Given the description of an element on the screen output the (x, y) to click on. 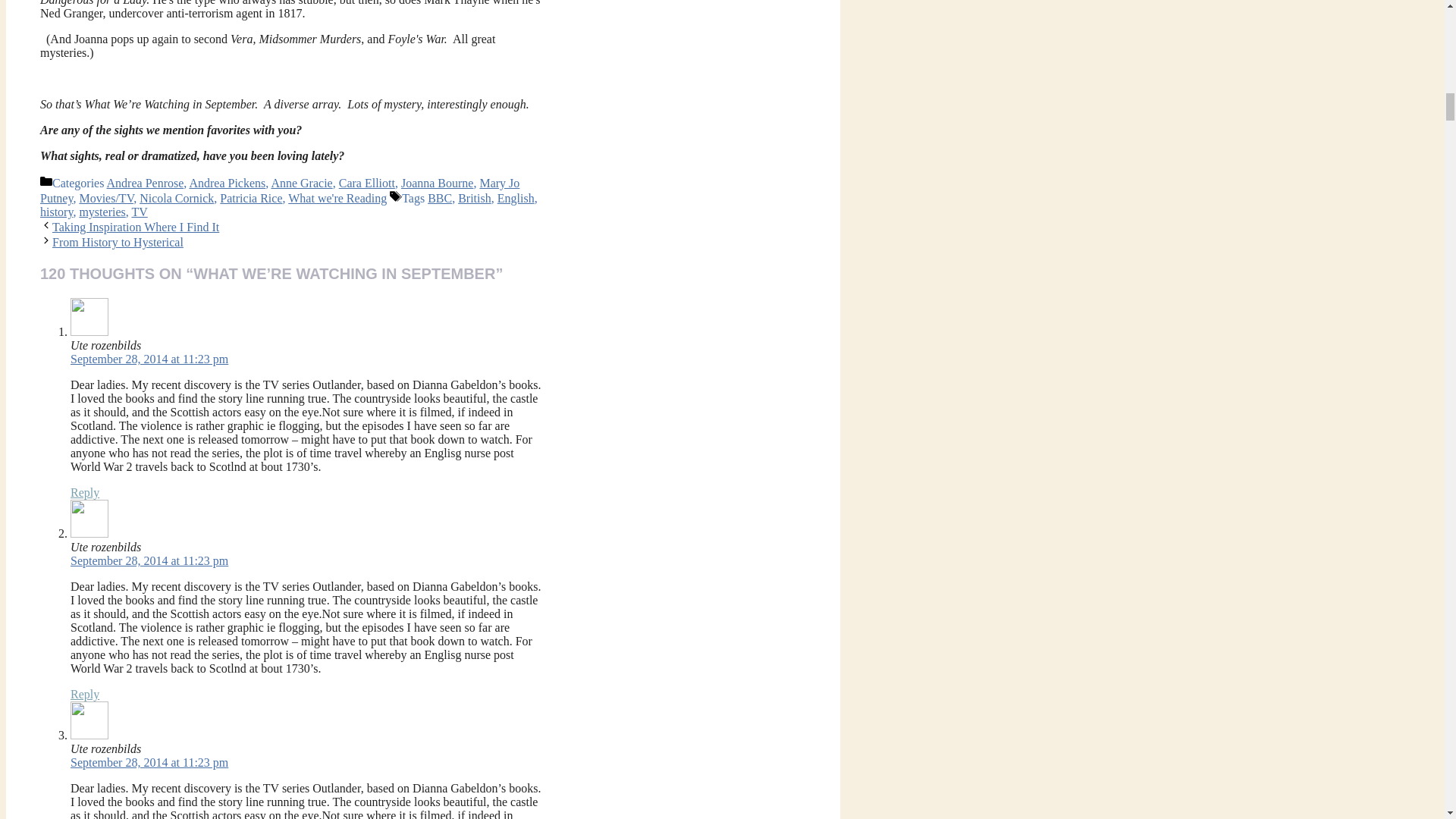
Andrea Penrose (145, 182)
Cara Elliott (366, 182)
Andrea Pickens (226, 182)
Mary Jo Putney (279, 190)
Joanna Bourne (437, 182)
Anne Gracie (300, 182)
